Given the description of an element on the screen output the (x, y) to click on. 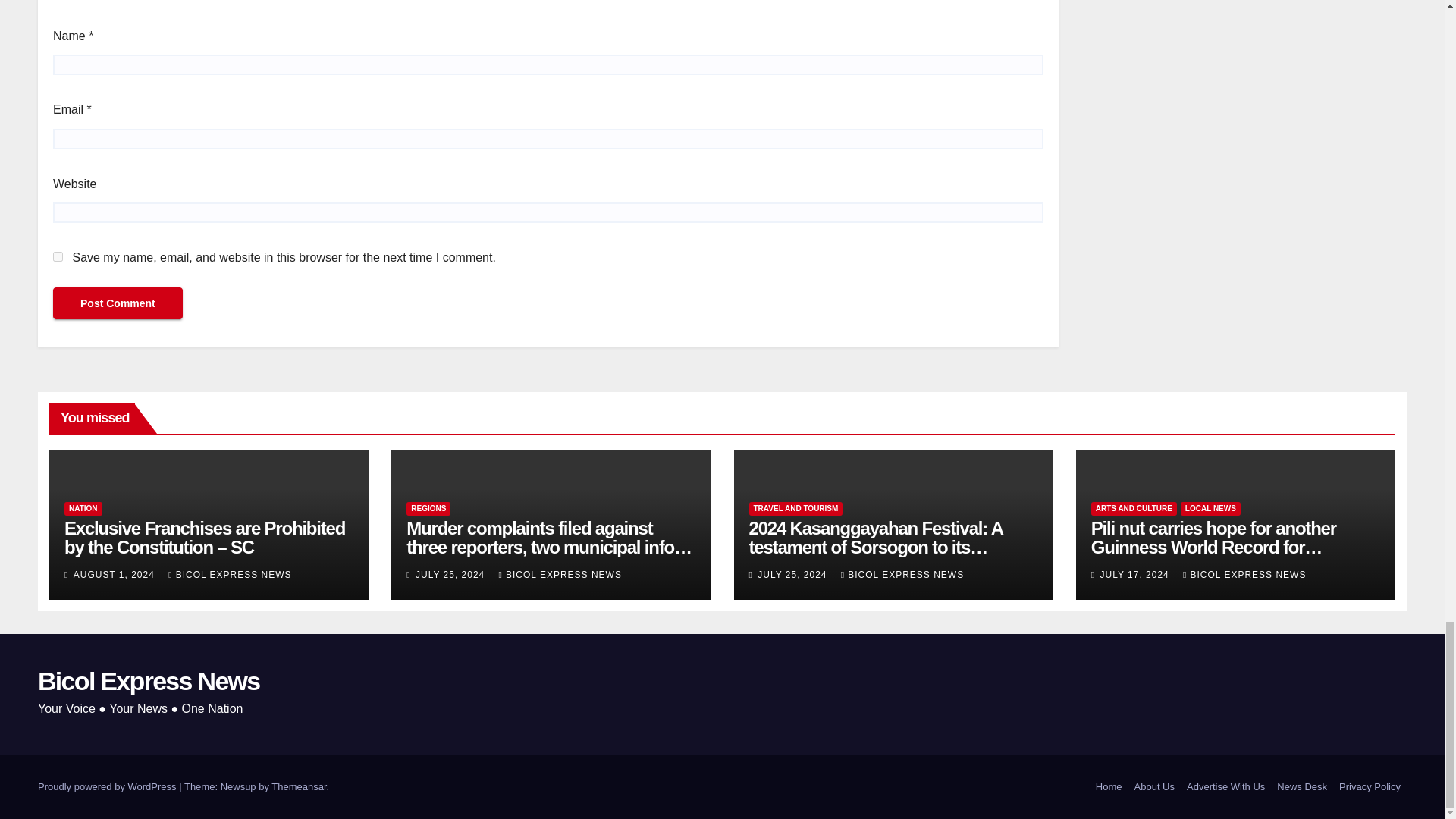
Post Comment (117, 303)
yes (57, 256)
